Given the description of an element on the screen output the (x, y) to click on. 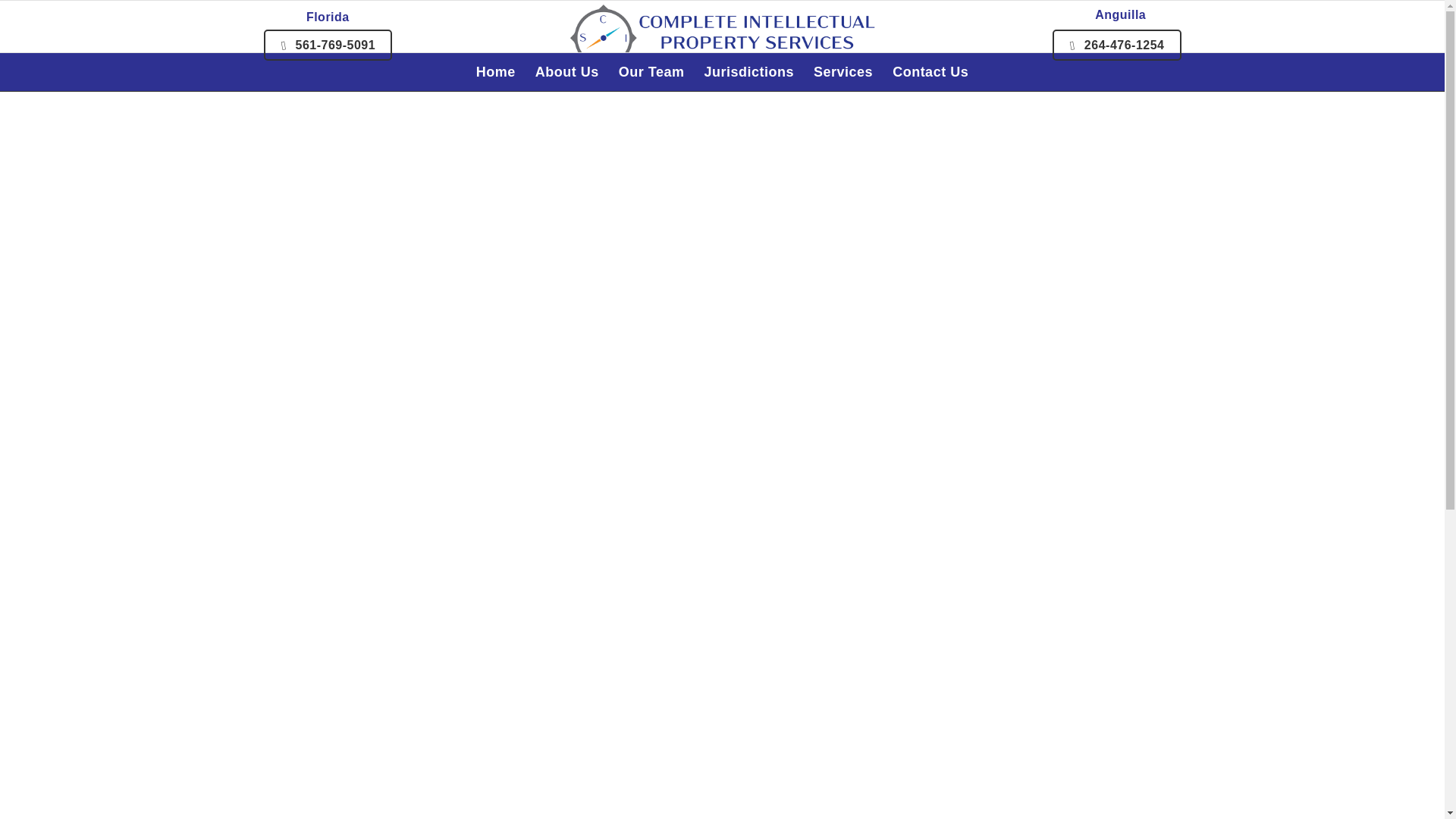
Jurisdictions (749, 71)
264-476-1254 (1116, 44)
About Us (566, 71)
Home (495, 71)
561-769-5091 (328, 44)
Services (842, 71)
CIPS-Logo (722, 37)
Contact Us (930, 71)
Our Team (651, 71)
